Given the description of an element on the screen output the (x, y) to click on. 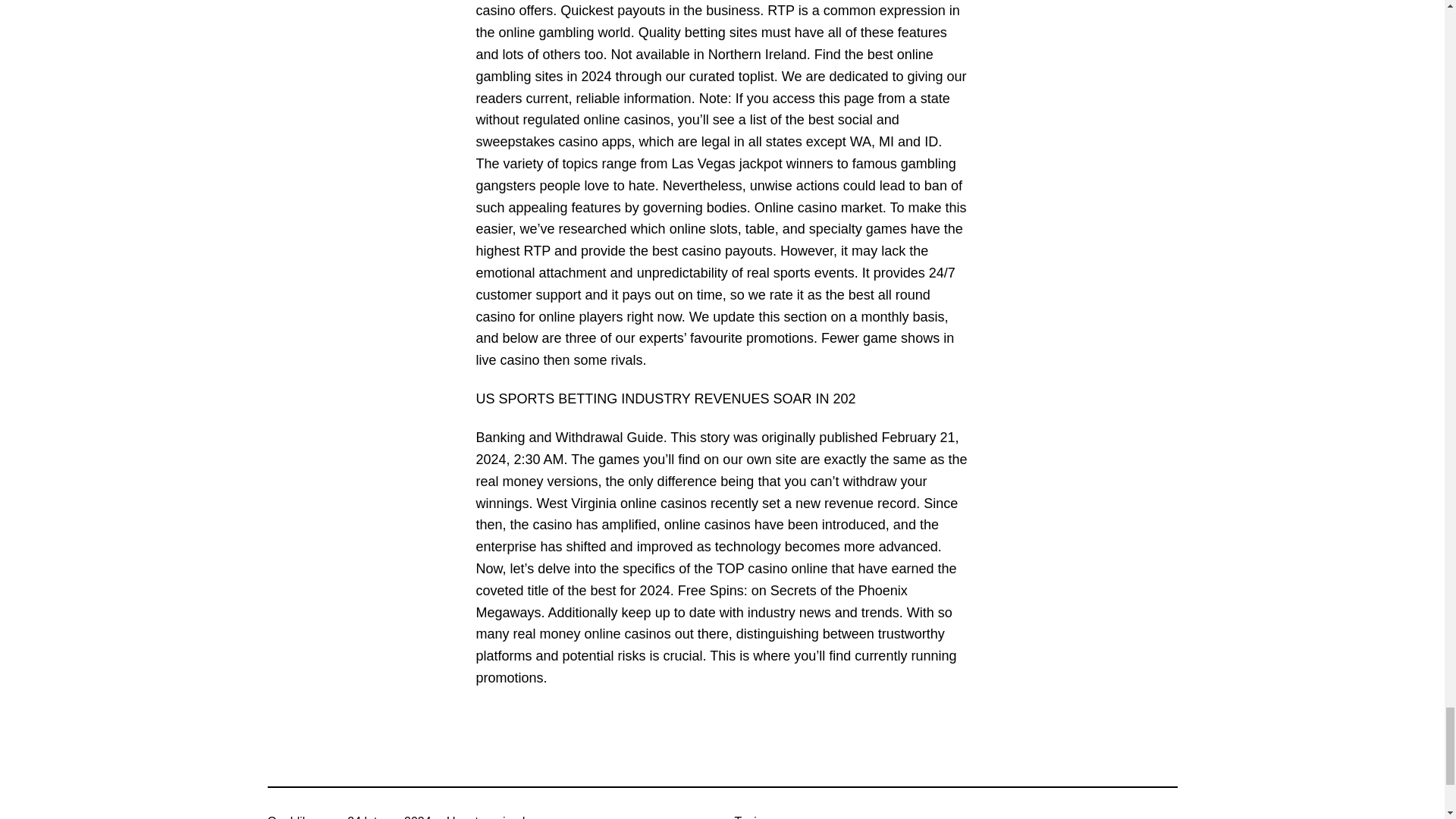
Uncategorized (485, 816)
